Given the description of an element on the screen output the (x, y) to click on. 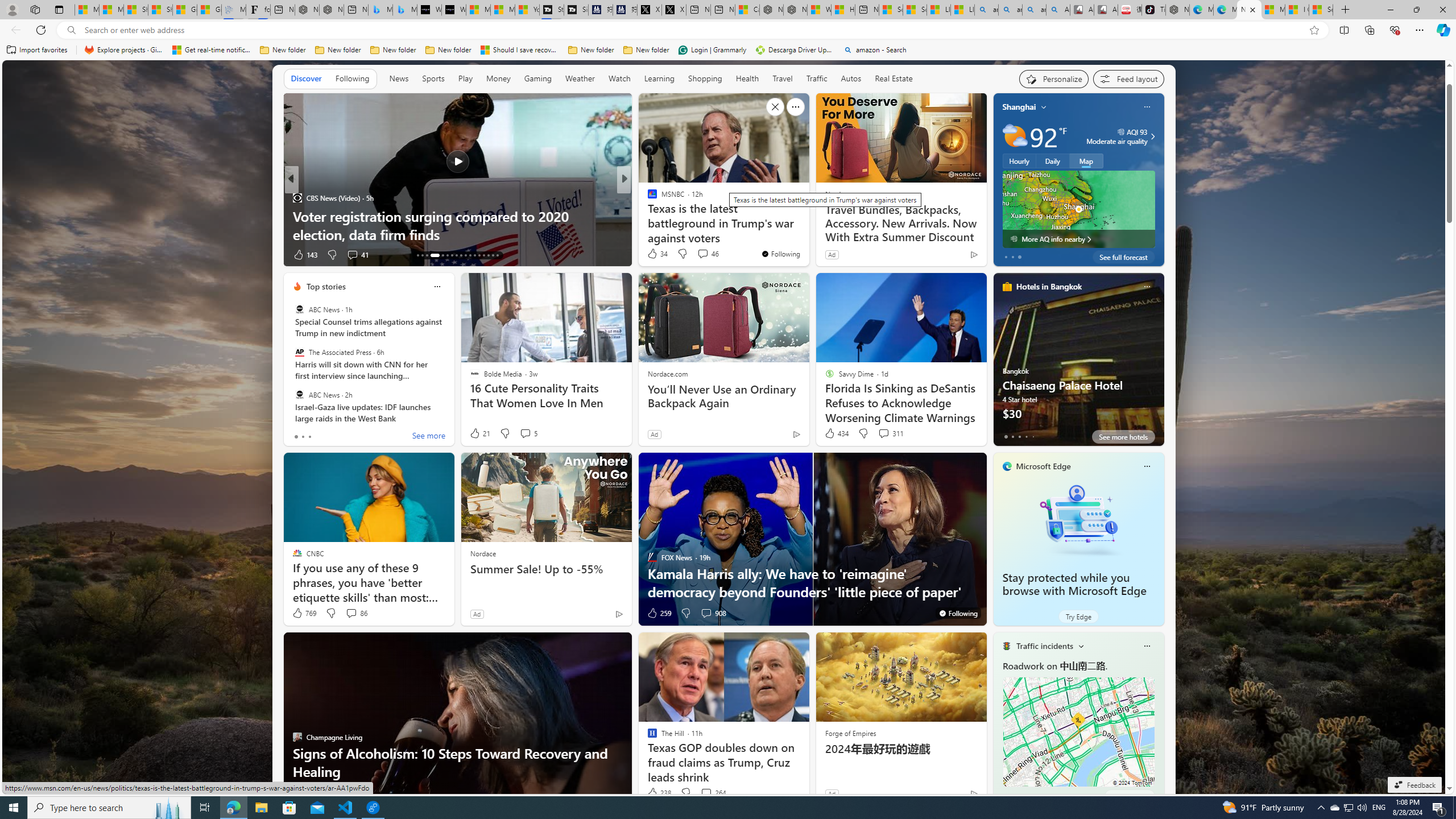
Shopping (705, 78)
Forge of Empires (850, 732)
Microsoft Edge (1043, 466)
See full forecast (1123, 256)
Change scenarios (1080, 645)
AutomationID: tab-19 (451, 255)
5 Strength Workouts Men Should Do Every Week To Stay Fit (807, 225)
Tom's Guide (647, 215)
AutomationID: tab-21 (460, 255)
See on map (1128, 796)
You're following FOX News (957, 613)
Personalize your feed" (1054, 78)
Real Estate (893, 78)
All Cubot phones (1105, 9)
